Given the description of an element on the screen output the (x, y) to click on. 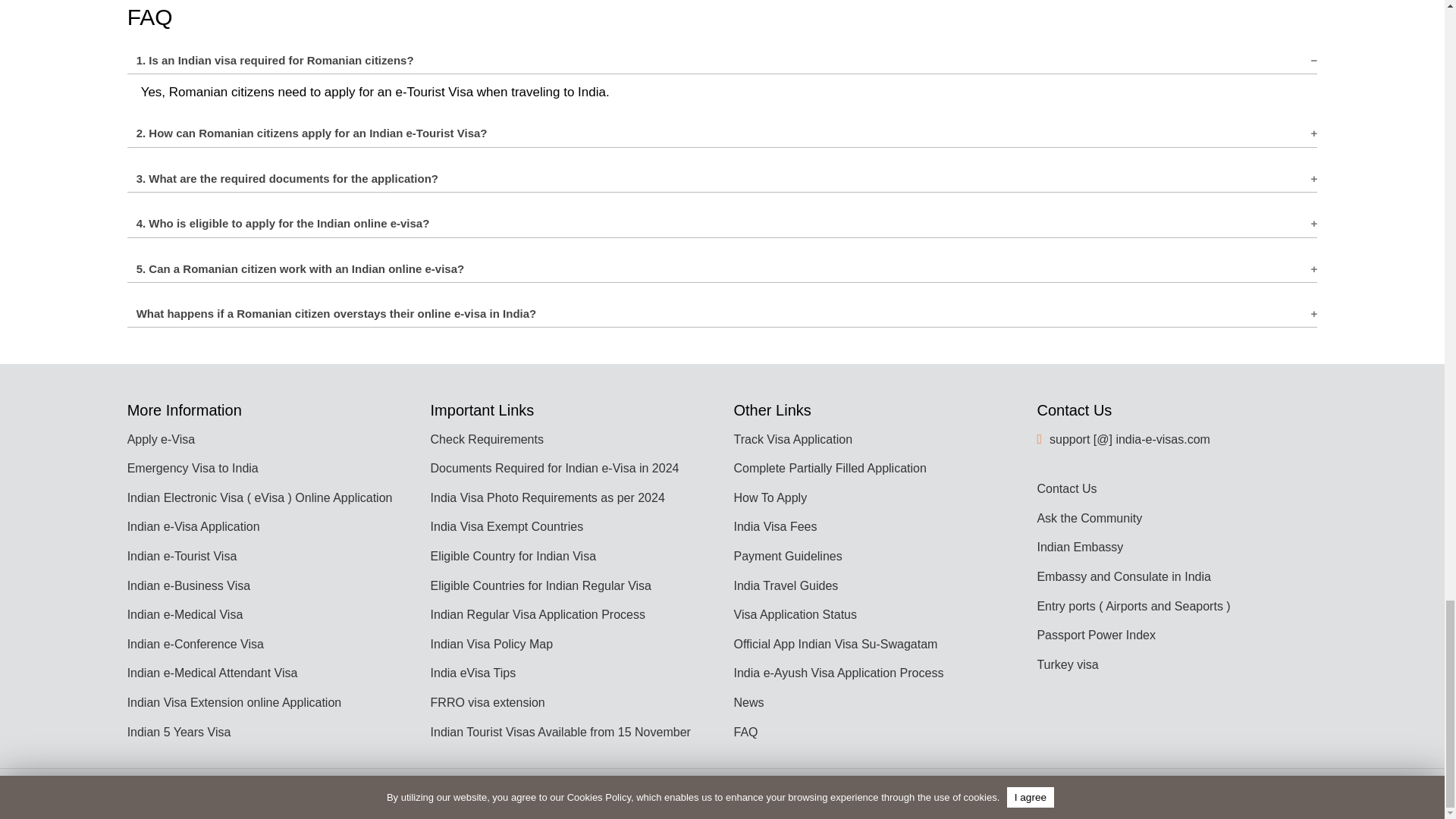
Indian e-Visa Application (194, 526)
Indian 5 Years Visa (179, 731)
Indian e-Medical Visa (185, 614)
Indian e-Tourist Visa (182, 555)
India Visa Photo Requirements as per 2024 (547, 497)
Indian e-Tourist Visa (182, 555)
Emergency Visa to India (193, 468)
Documents Required for Indian e-Visa in 2024 (554, 468)
Emergency Visa to India (193, 468)
Indian e-Visa Application (194, 526)
Indian e-Business Visa (189, 585)
Apply e-Visa (161, 439)
Apply e-Visa (161, 439)
Indian Visa Extension online Application (235, 702)
Indian e-Business Visa (189, 585)
